Given the description of an element on the screen output the (x, y) to click on. 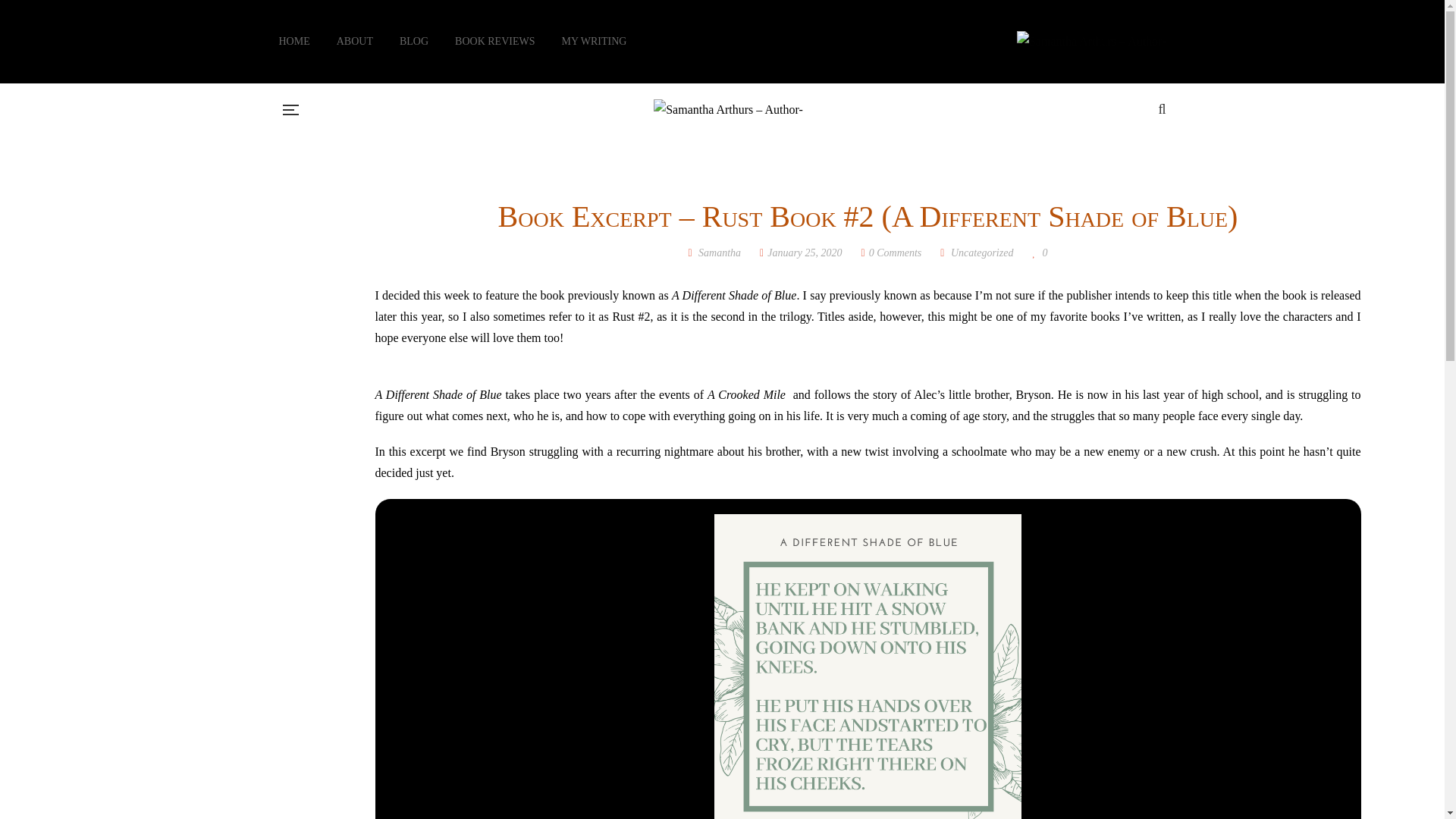
January 25, 2020 (801, 252)
HOME (294, 41)
Browse Author Articles (714, 252)
0 (1039, 252)
ABOUT (354, 41)
BOOK REVIEWS (494, 41)
Samantha (714, 252)
MY WRITING (593, 41)
0 Comments (891, 252)
Uncategorized (981, 252)
